Given the description of an element on the screen output the (x, y) to click on. 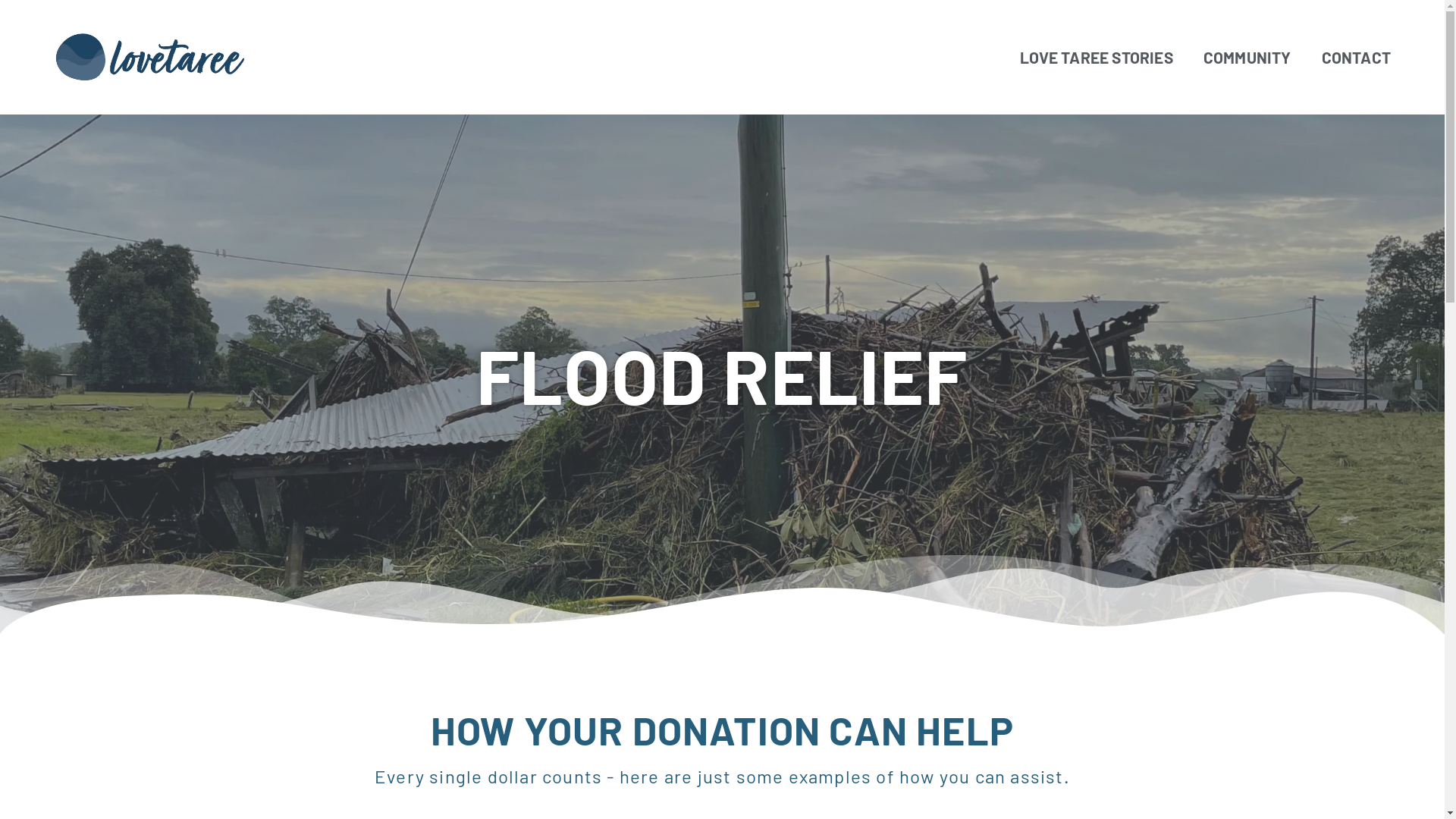
CONTACT Element type: text (1355, 57)
COMMUNITY Element type: text (1247, 57)
LOVE TAREE STORIES Element type: text (1096, 57)
